Given the description of an element on the screen output the (x, y) to click on. 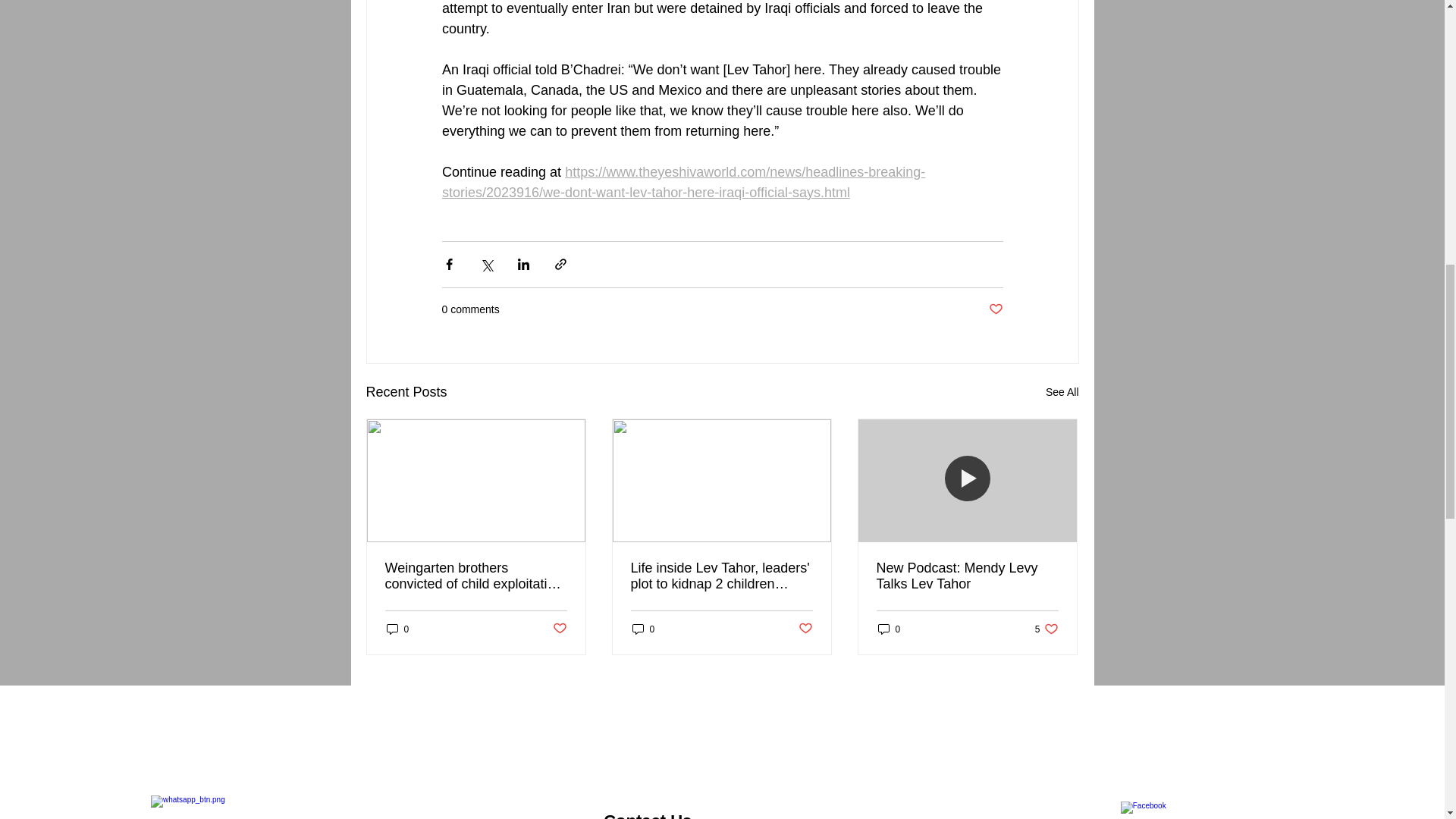
0 (397, 628)
See All (1061, 392)
Post not marked as liked (804, 628)
New Podcast: Mendy Levy Talks Lev Tahor (967, 576)
0 (643, 628)
0 (889, 628)
Post not marked as liked (558, 628)
Post not marked as liked (995, 309)
